Given the description of an element on the screen output the (x, y) to click on. 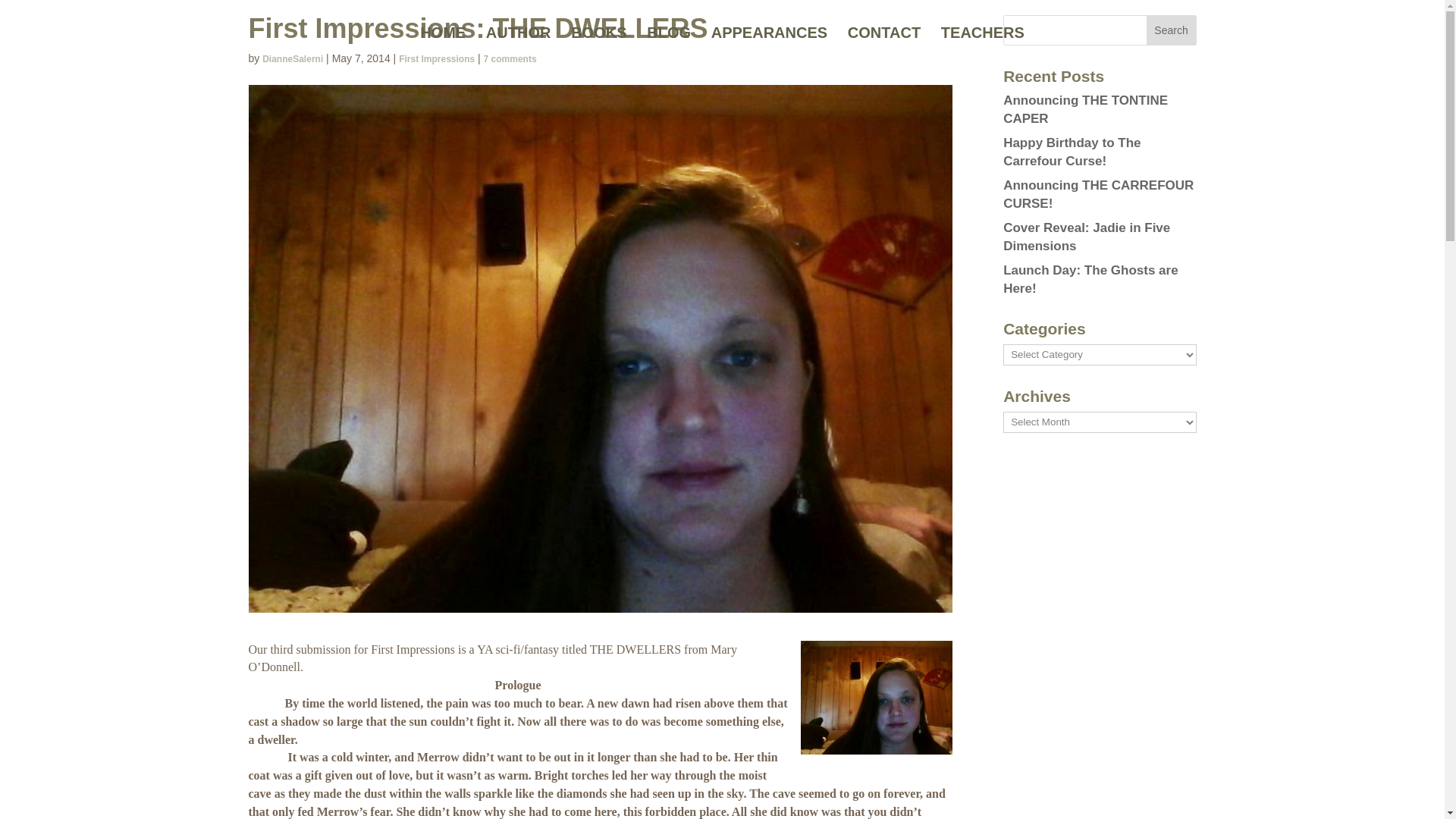
Posts by DianneSalerni (292, 59)
7 comments (510, 59)
Announcing THE CARREFOUR CURSE! (1098, 194)
Search (1171, 30)
DianneSalerni (292, 59)
AUTHOR (518, 47)
HOME (442, 47)
CONTACT (883, 47)
Announcing THE TONTINE CAPER (1085, 109)
Cover Reveal: Jadie in Five Dimensions (1086, 236)
TEACHERS (982, 47)
Launch Day: The Ghosts are Here! (1090, 278)
Search (1171, 30)
APPEARANCES (769, 47)
Happy Birthday to The Carrefour Curse! (1071, 151)
